Given the description of an element on the screen output the (x, y) to click on. 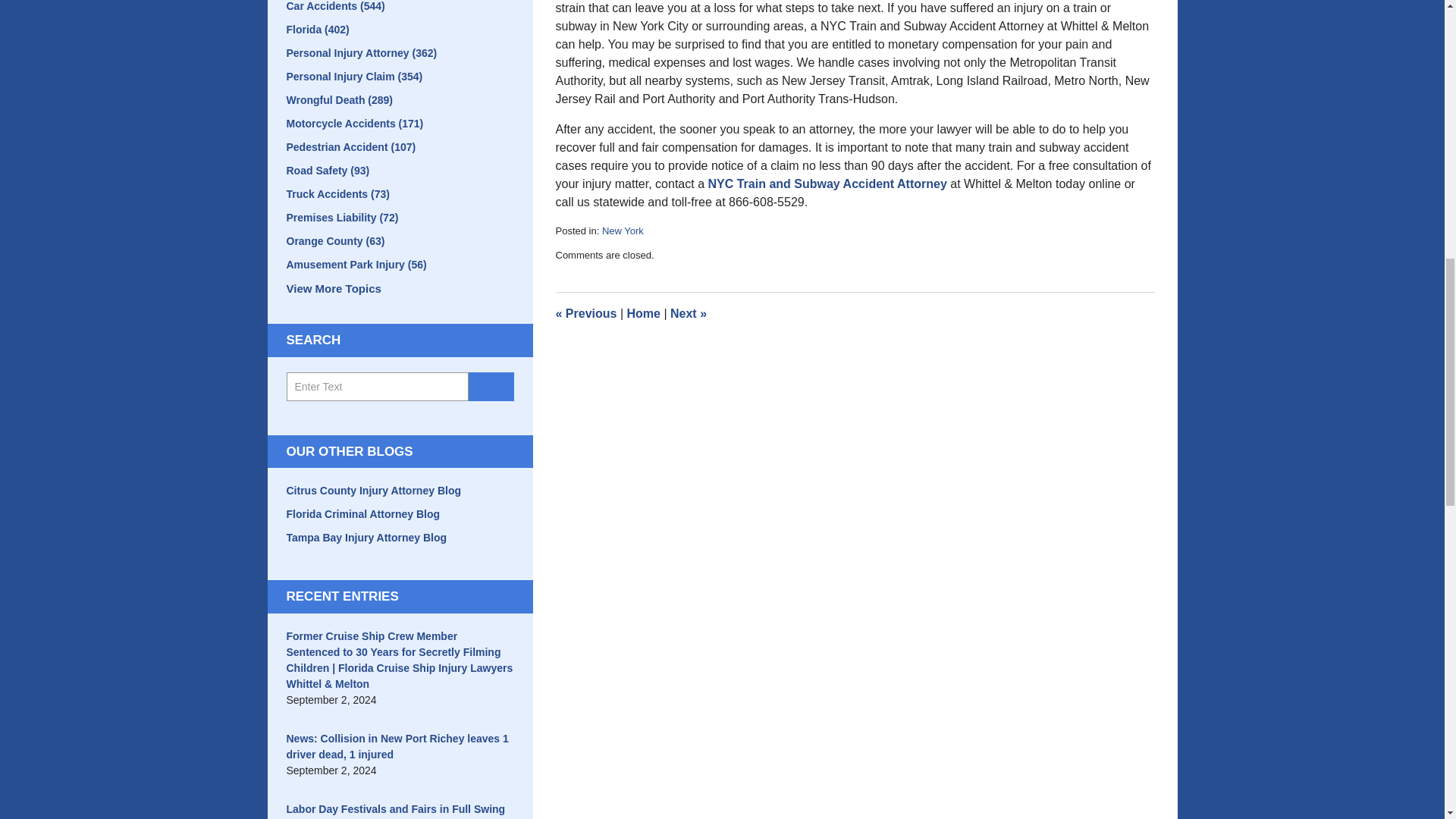
NYC Train and Subway Accident Attorney (826, 183)
New York (622, 230)
View all posts in New York (622, 230)
Home (642, 313)
